Given the description of an element on the screen output the (x, y) to click on. 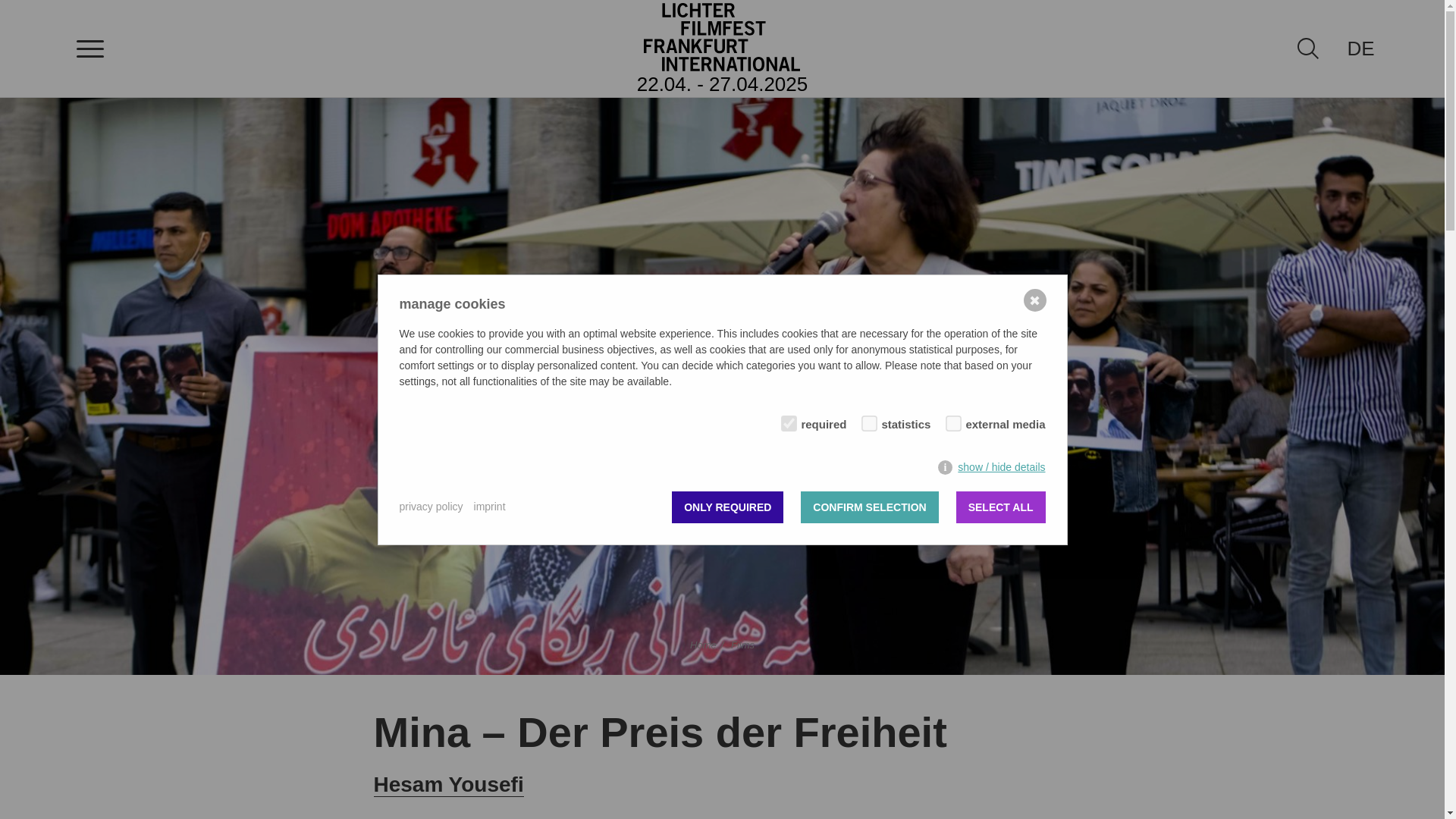
on (949, 420)
Lichter Filmfest (721, 37)
search (1307, 47)
search (1308, 47)
on (865, 420)
on (785, 420)
suchen (22, 7)
deutsch (1360, 47)
DE (1360, 47)
